Given the description of an element on the screen output the (x, y) to click on. 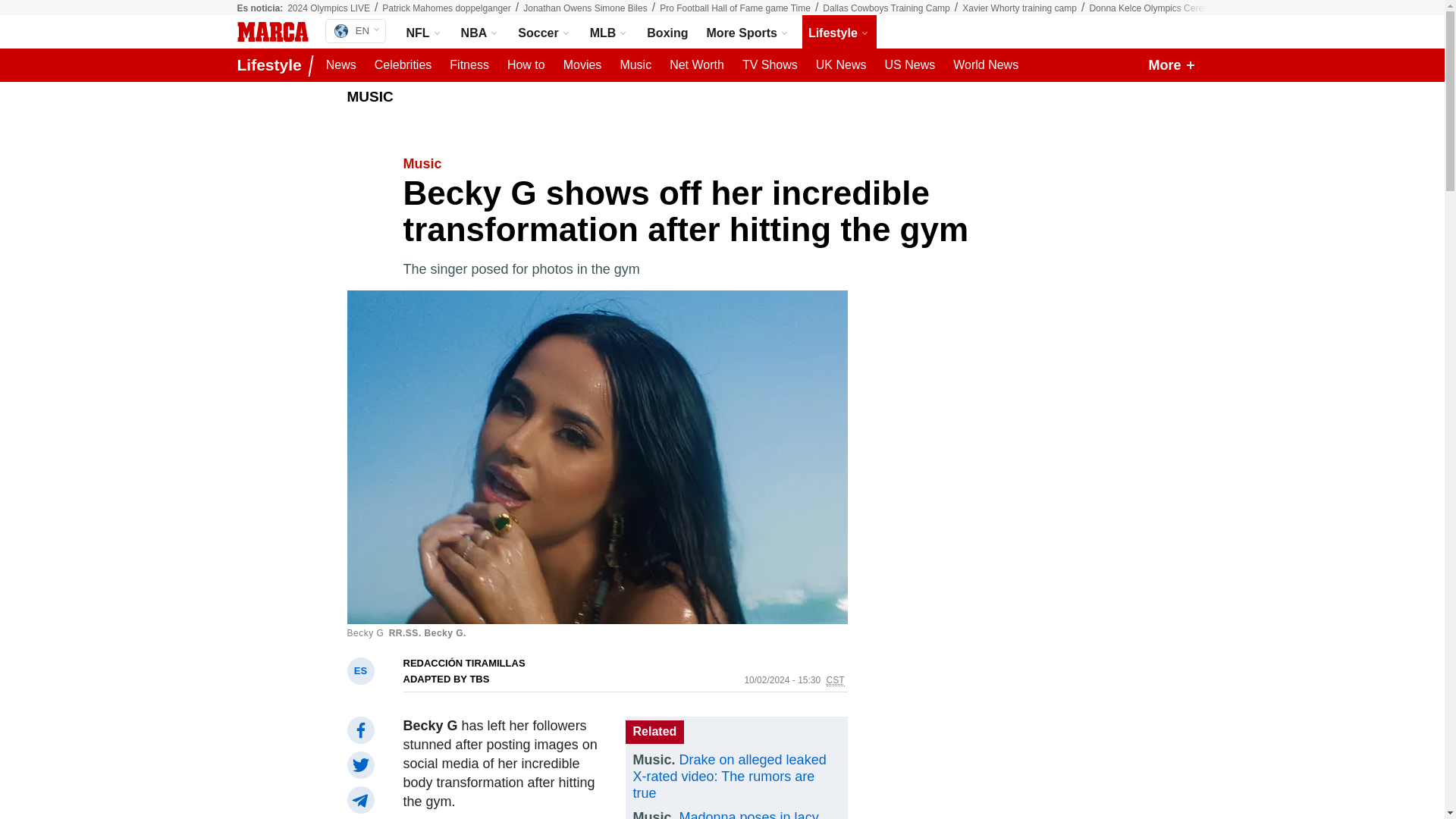
Soccer (544, 31)
UK News (840, 64)
Jonathan Owens Simone Biles (584, 8)
How to (525, 64)
Xavier Whorty training camp (1019, 8)
More Sports (748, 31)
MLB (354, 30)
News (608, 31)
Donna Kelce Olympics Ceremony (341, 64)
Portada de Marca (1157, 8)
Net Worth (271, 31)
Celebrities (696, 64)
Music (403, 64)
Fitness (635, 64)
